Given the description of an element on the screen output the (x, y) to click on. 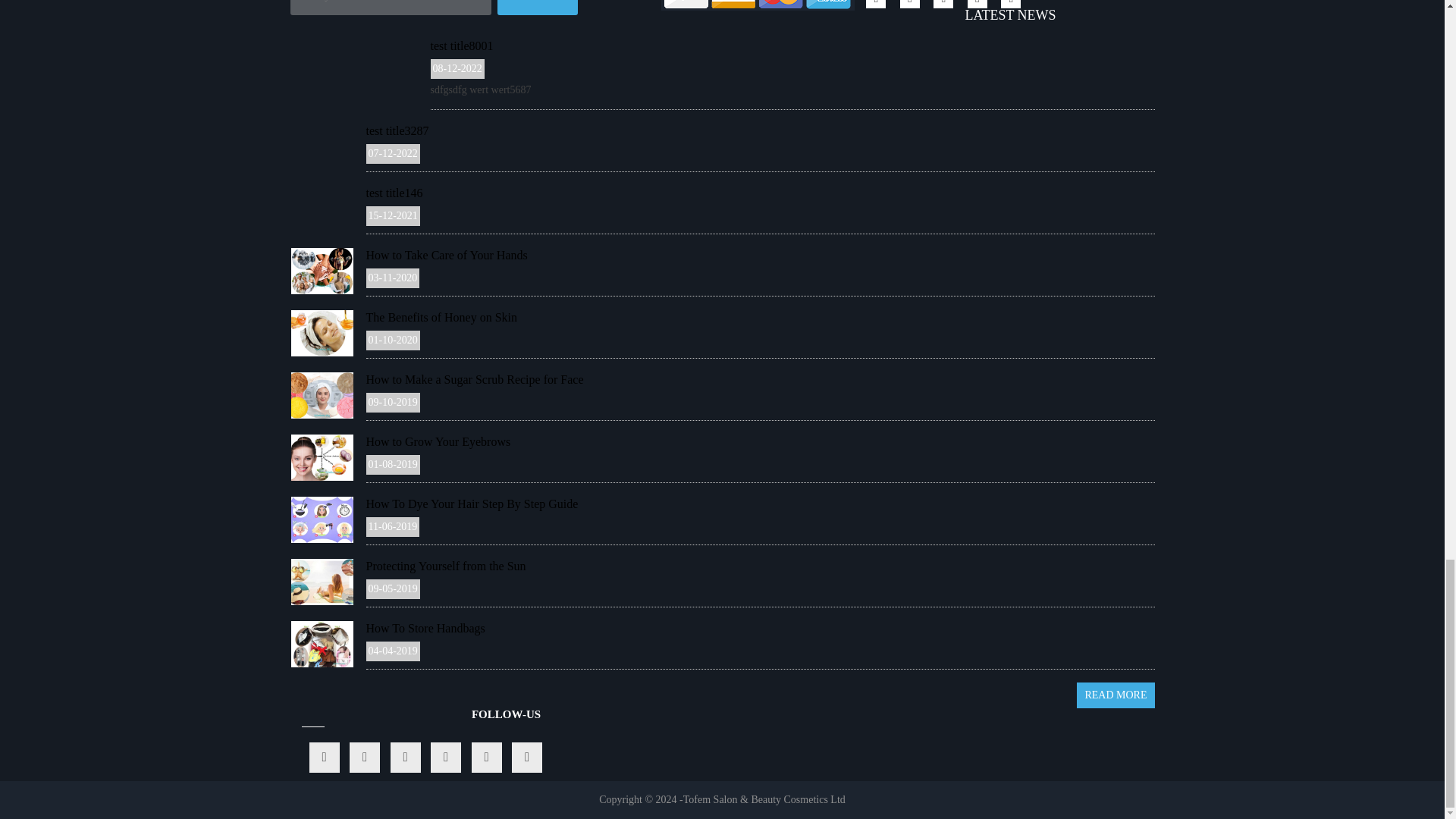
Subscribe (537, 7)
